Given the description of an element on the screen output the (x, y) to click on. 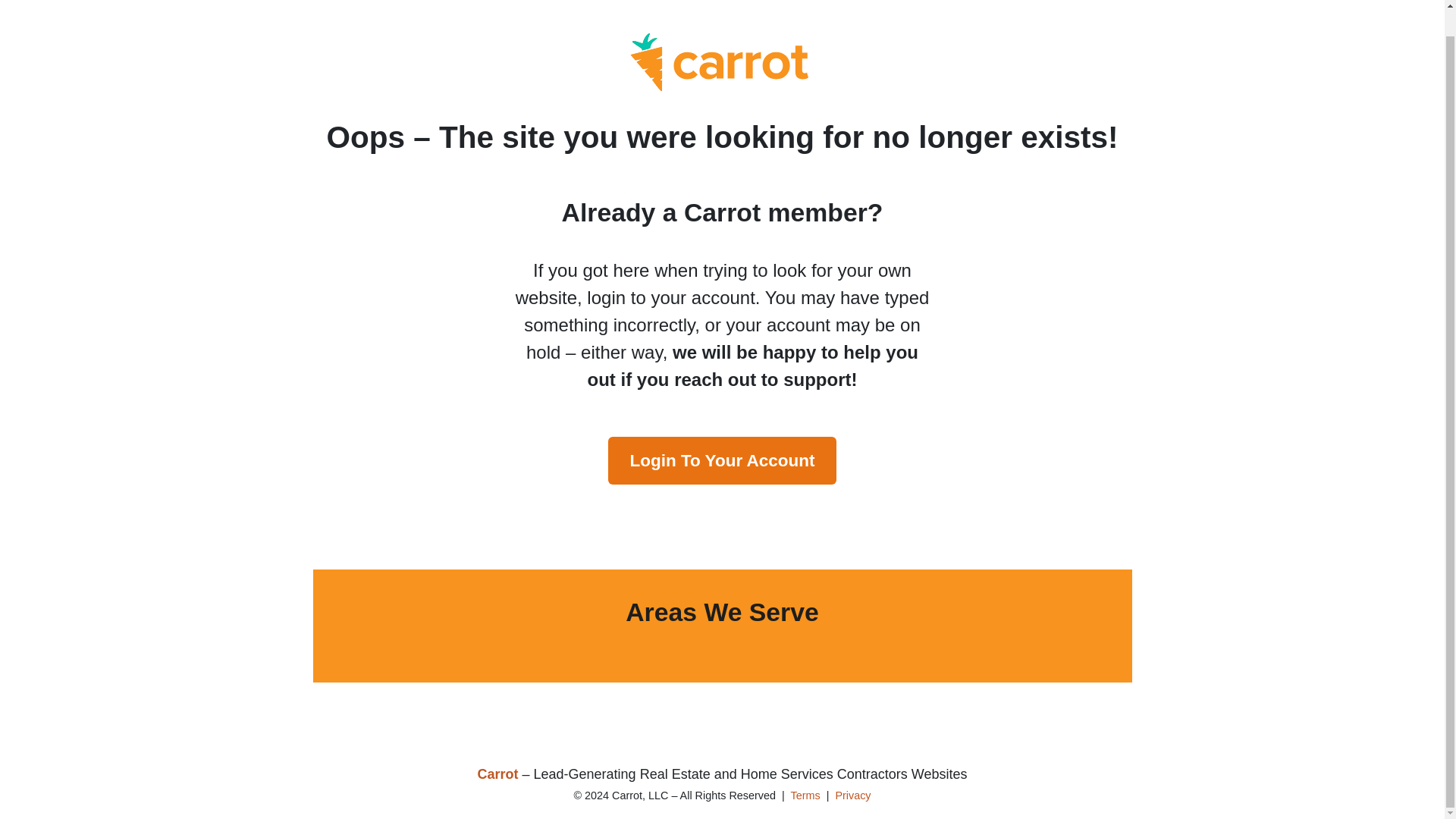
Carrot (497, 774)
Terms (804, 795)
Login To Your Account (721, 460)
Privacy (852, 795)
